Given the description of an element on the screen output the (x, y) to click on. 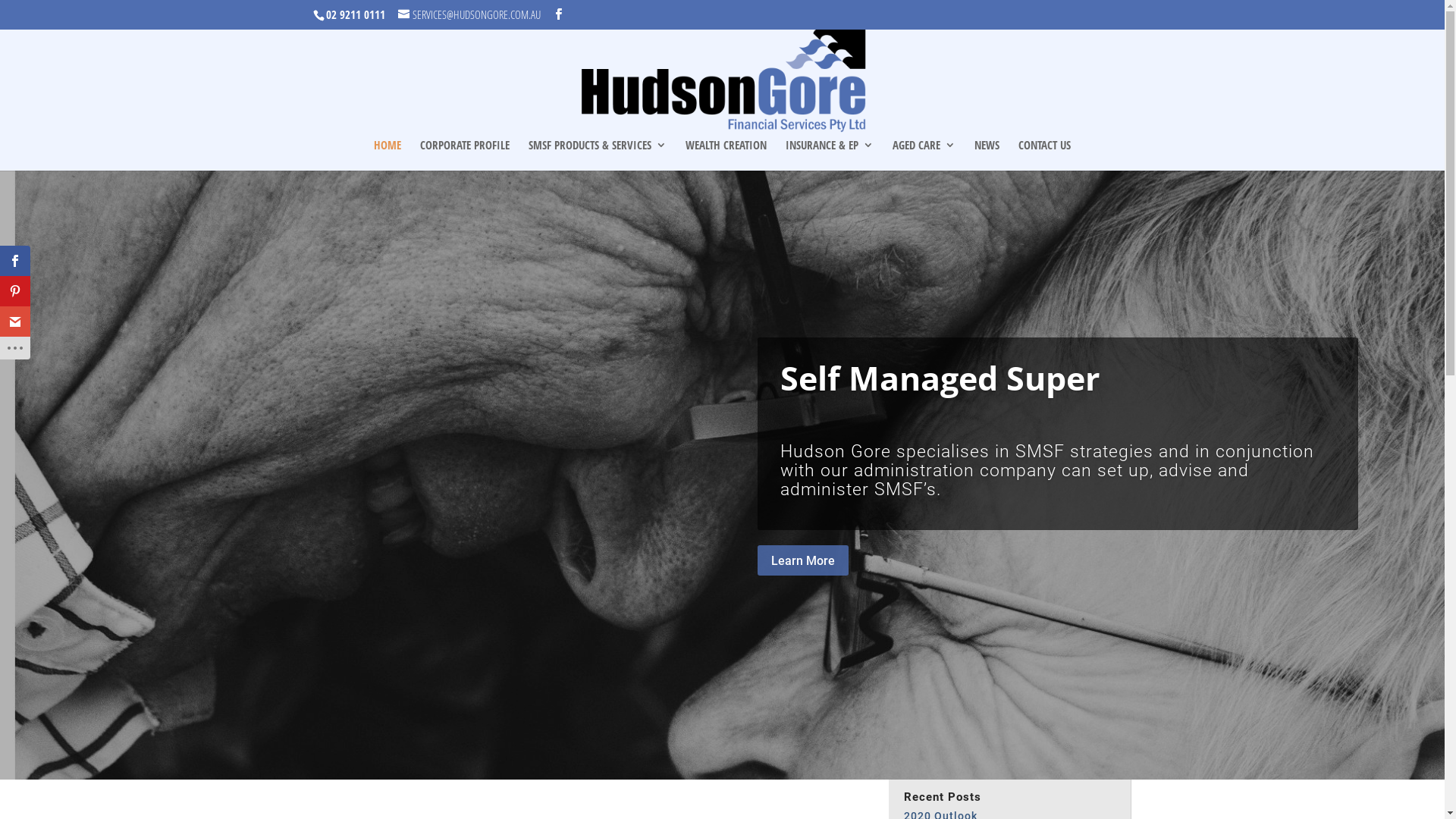
SERVICES@HUDSONGORE.COM.AU Element type: text (468, 13)
HOME Element type: text (387, 154)
CONTACT US Element type: text (1044, 154)
NEWS Element type: text (986, 154)
Self Managed Super Element type: text (940, 377)
AGED CARE Element type: text (923, 154)
Learn More Element type: text (802, 560)
INSURANCE & EP Element type: text (829, 154)
SMSF PRODUCTS & SERVICES Element type: text (597, 154)
WEALTH CREATION Element type: text (725, 154)
CORPORATE PROFILE Element type: text (464, 154)
